Given the description of an element on the screen output the (x, y) to click on. 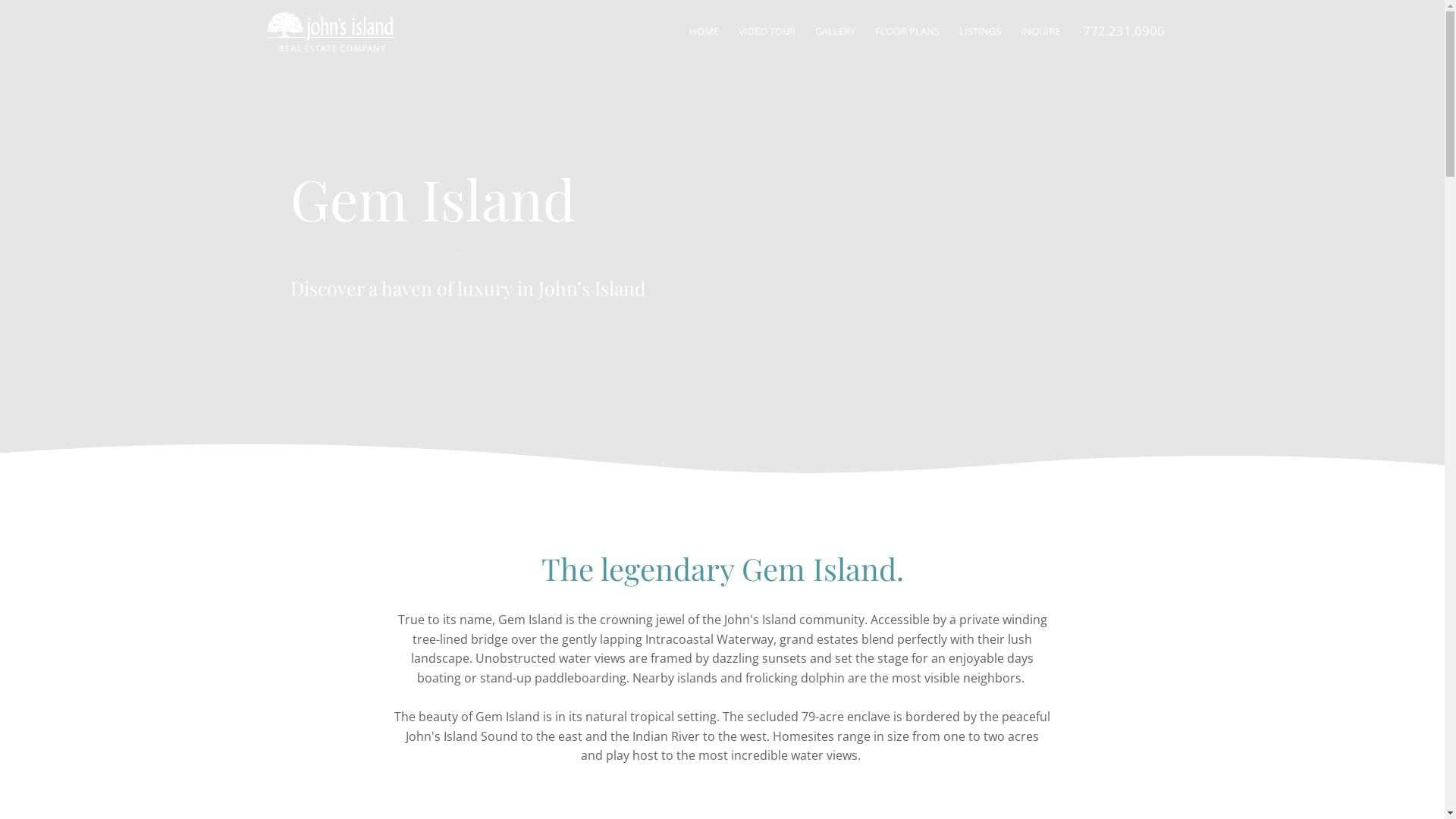
INQUIRE Element type: text (1039, 31)
HOME Element type: text (703, 31)
VIDEO TOUR Element type: text (766, 31)
LISTINGS Element type: text (979, 31)
GALLERY Element type: text (835, 31)
FLOOR PLANS Element type: text (906, 31)
